Given the description of an element on the screen output the (x, y) to click on. 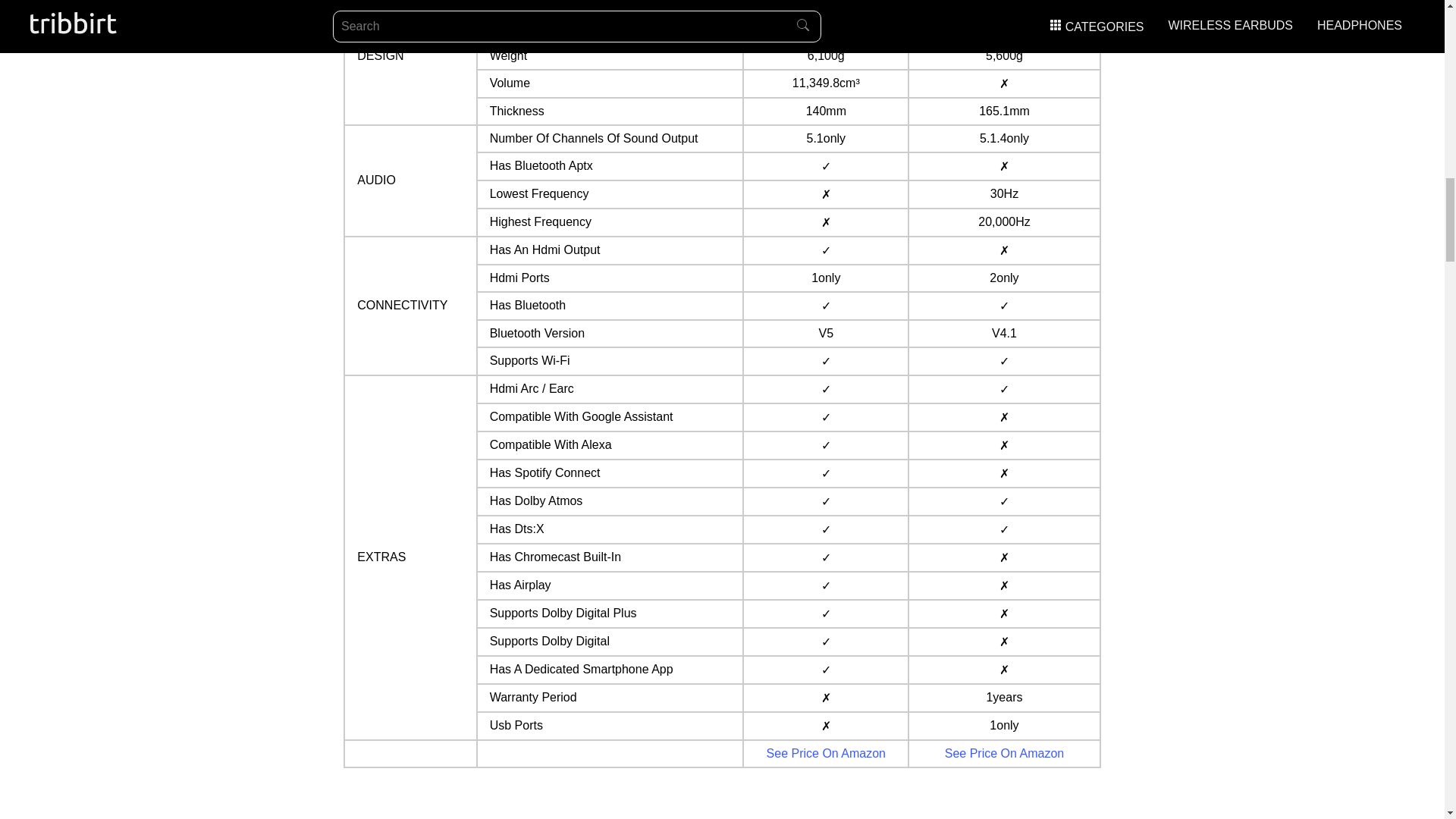
See Price On Amazon (826, 753)
See Price On Amazon (1004, 753)
